Given the description of an element on the screen output the (x, y) to click on. 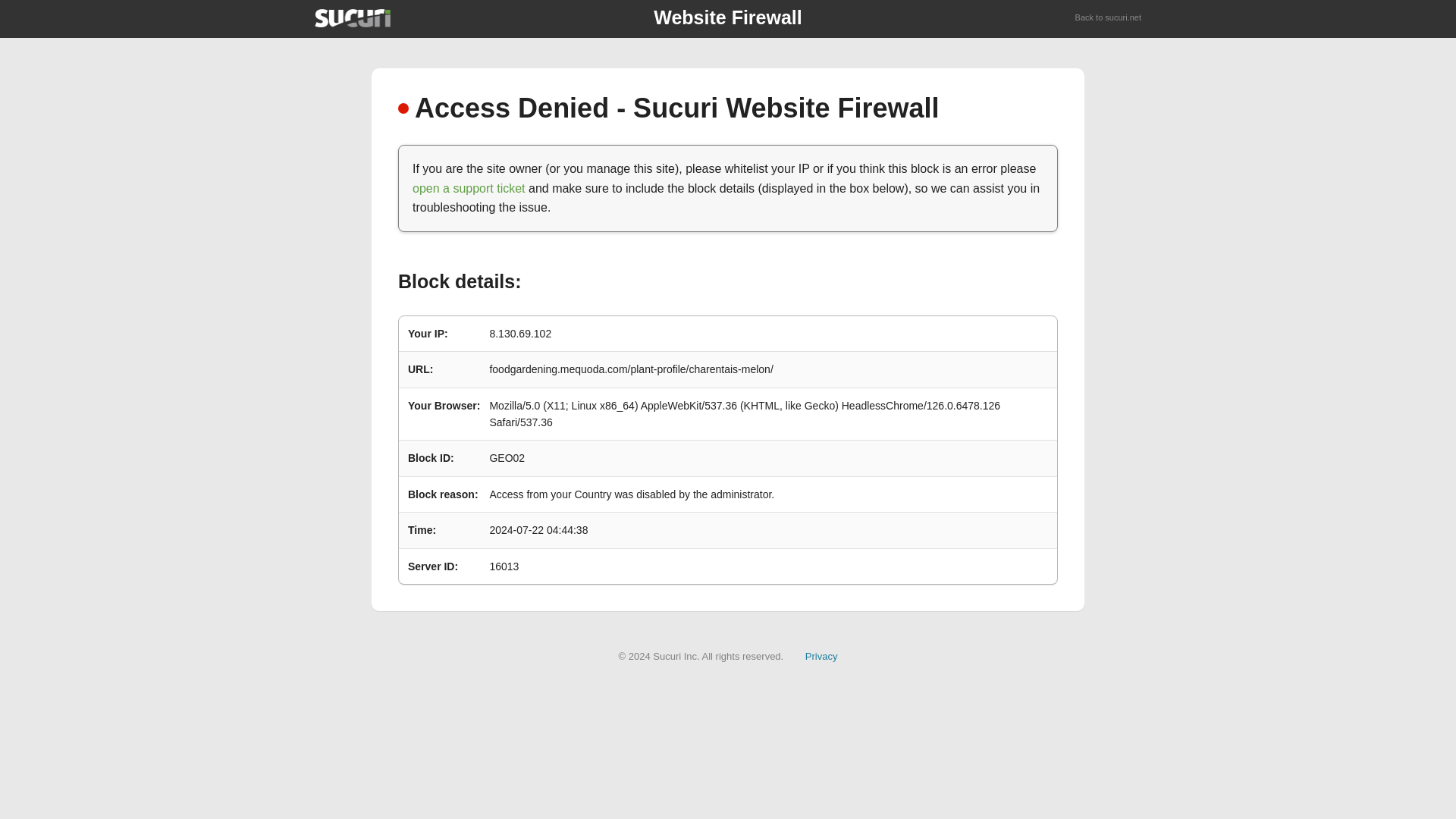
Privacy (821, 655)
open a support ticket (468, 187)
Back to sucuri.net (1108, 18)
